Given the description of an element on the screen output the (x, y) to click on. 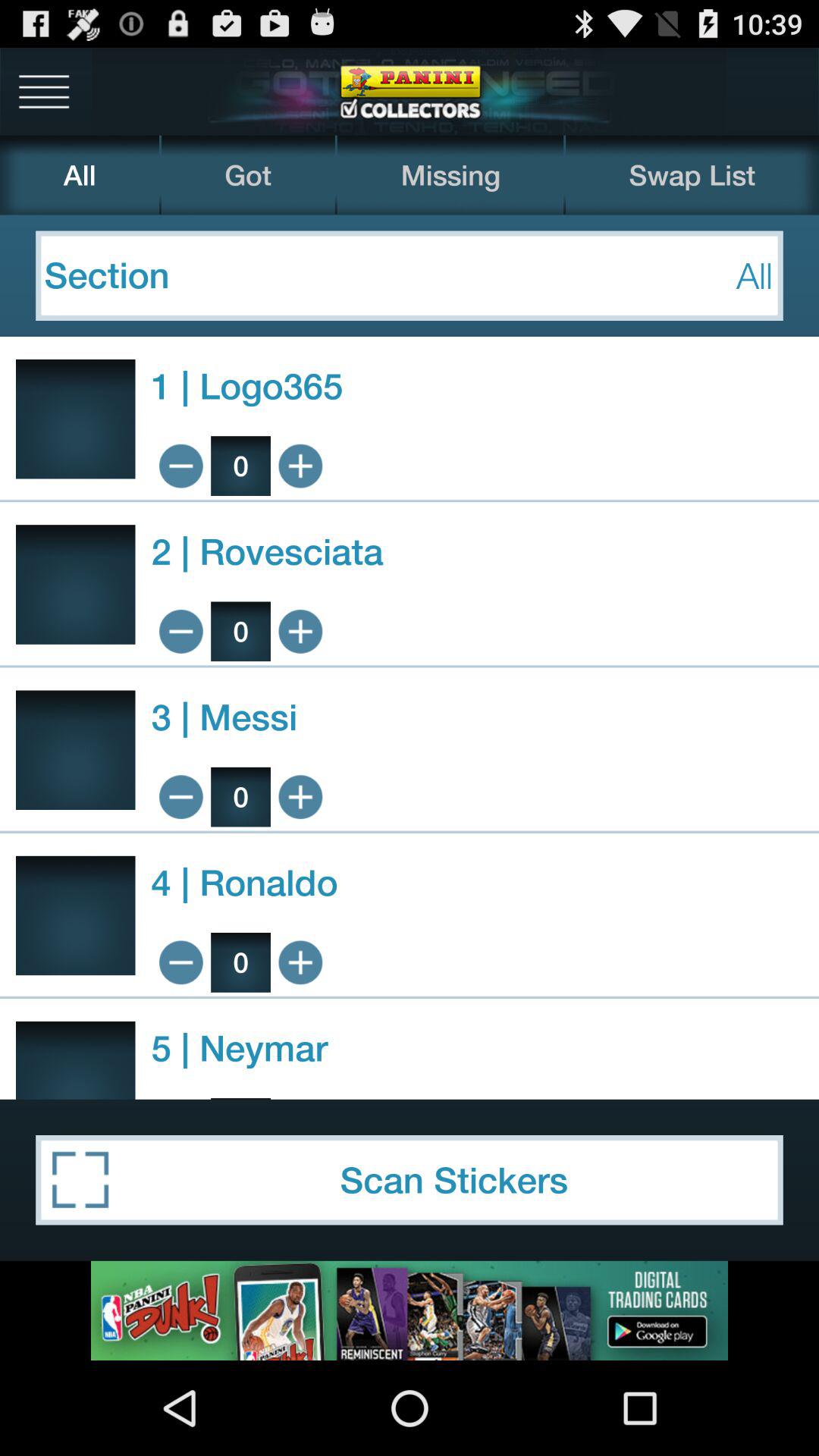
show the menu (43, 91)
